Given the description of an element on the screen output the (x, y) to click on. 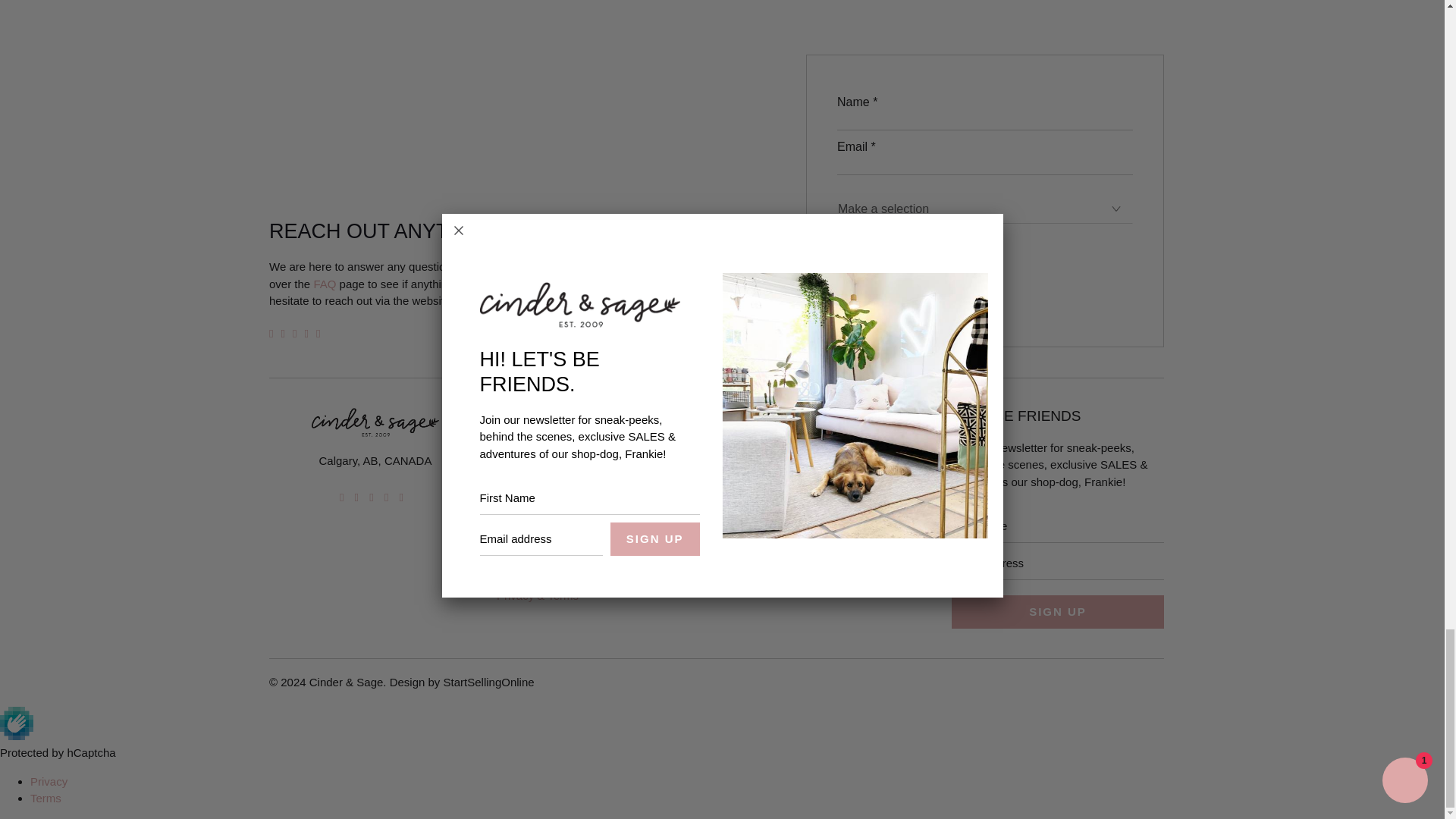
COVID FAQ (324, 283)
Sign Up (1057, 611)
Send (878, 287)
